Given the description of an element on the screen output the (x, y) to click on. 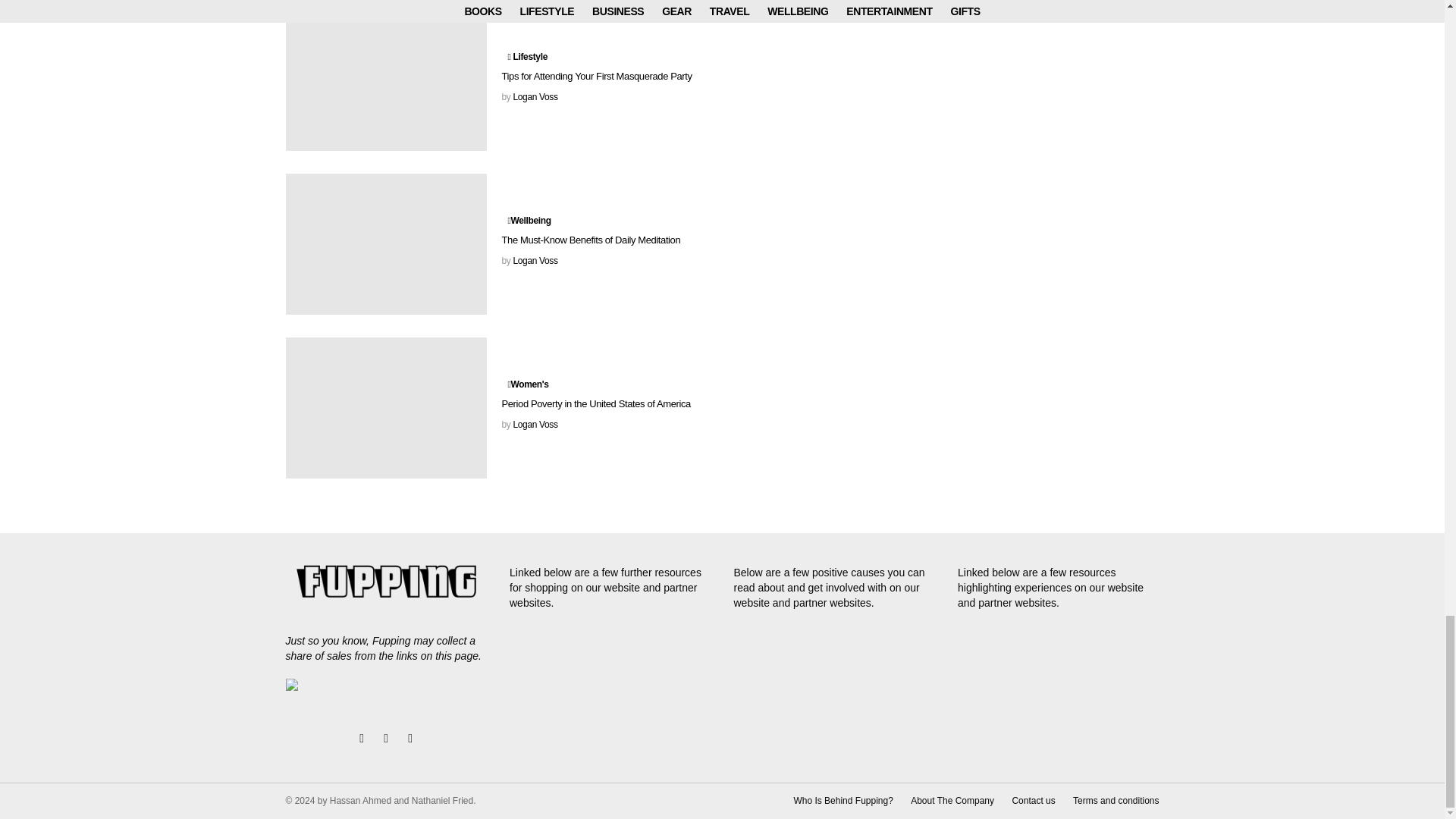
Posts by Logan Voss (534, 424)
Tips for Attending Your First Masquerade Party (385, 79)
The Must-Know Benefits of Daily Meditation (385, 243)
Posts by Logan Voss (534, 96)
Posts by Logan Voss (534, 260)
Period Poverty in the United States of America (385, 407)
